Given the description of an element on the screen output the (x, y) to click on. 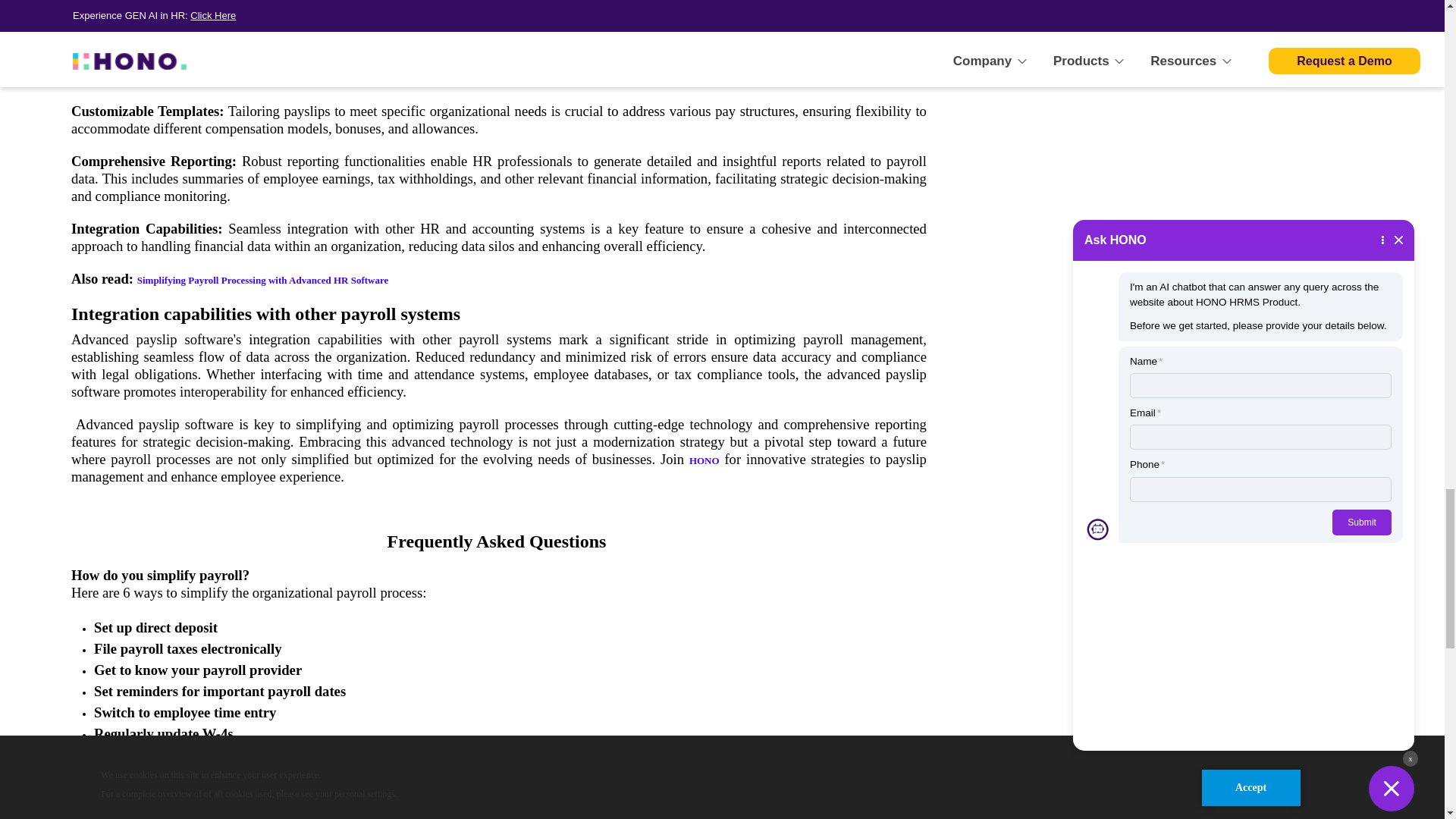
HONO (703, 460)
Simplifying Payroll Processing with Advanced HR Software (262, 279)
